Given the description of an element on the screen output the (x, y) to click on. 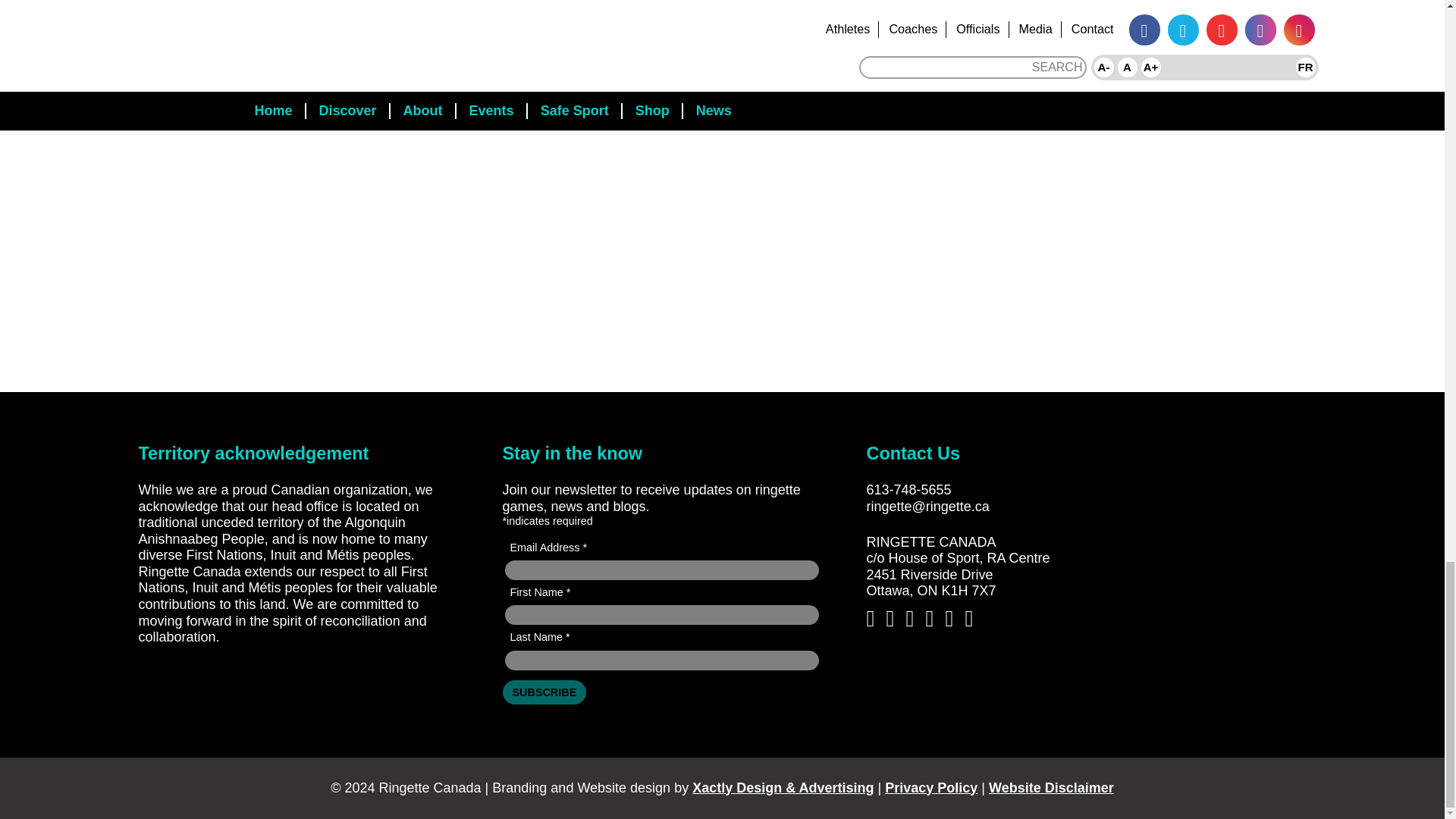
Subscribe (544, 691)
ringette-footer (1207, 478)
647548 (1188, 544)
canada-footer (1188, 596)
